Given the description of an element on the screen output the (x, y) to click on. 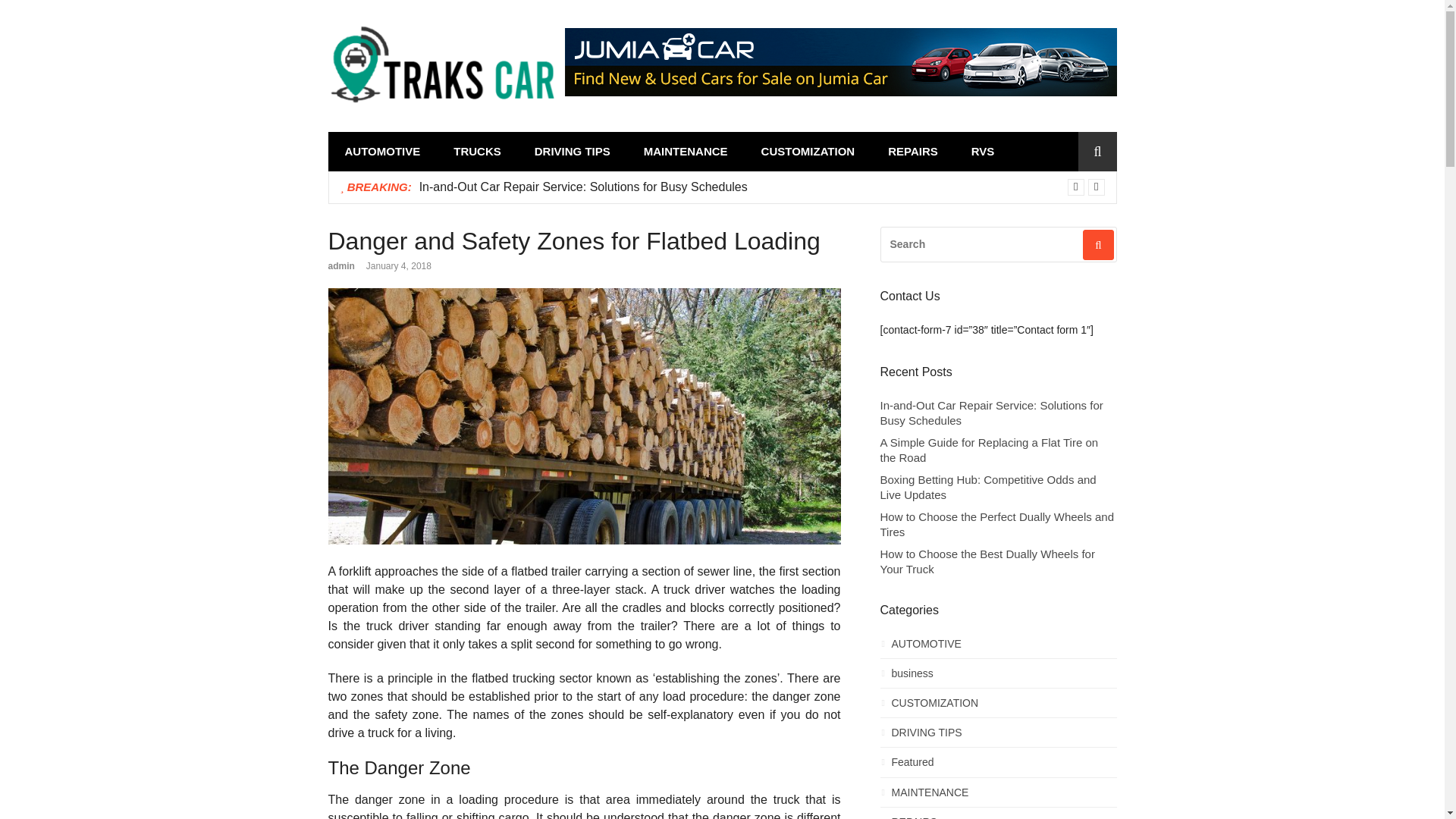
AUTOMOTIVE (997, 648)
A Simple Guide for Replacing a Flat Tire on the Road (997, 449)
How to Choose the Perfect Dually Wheels and Tires (997, 523)
CUSTOMIZATION (808, 151)
In-and-Out Car Repair Service: Solutions for Busy Schedules (583, 186)
TRUCKS (477, 151)
REPAIRS (912, 151)
In-and-Out Car Repair Service: Solutions for Busy Schedules (583, 186)
DRIVING TIPS (572, 151)
How to Choose the Best Dually Wheels for Your Truck (997, 561)
